Given the description of an element on the screen output the (x, y) to click on. 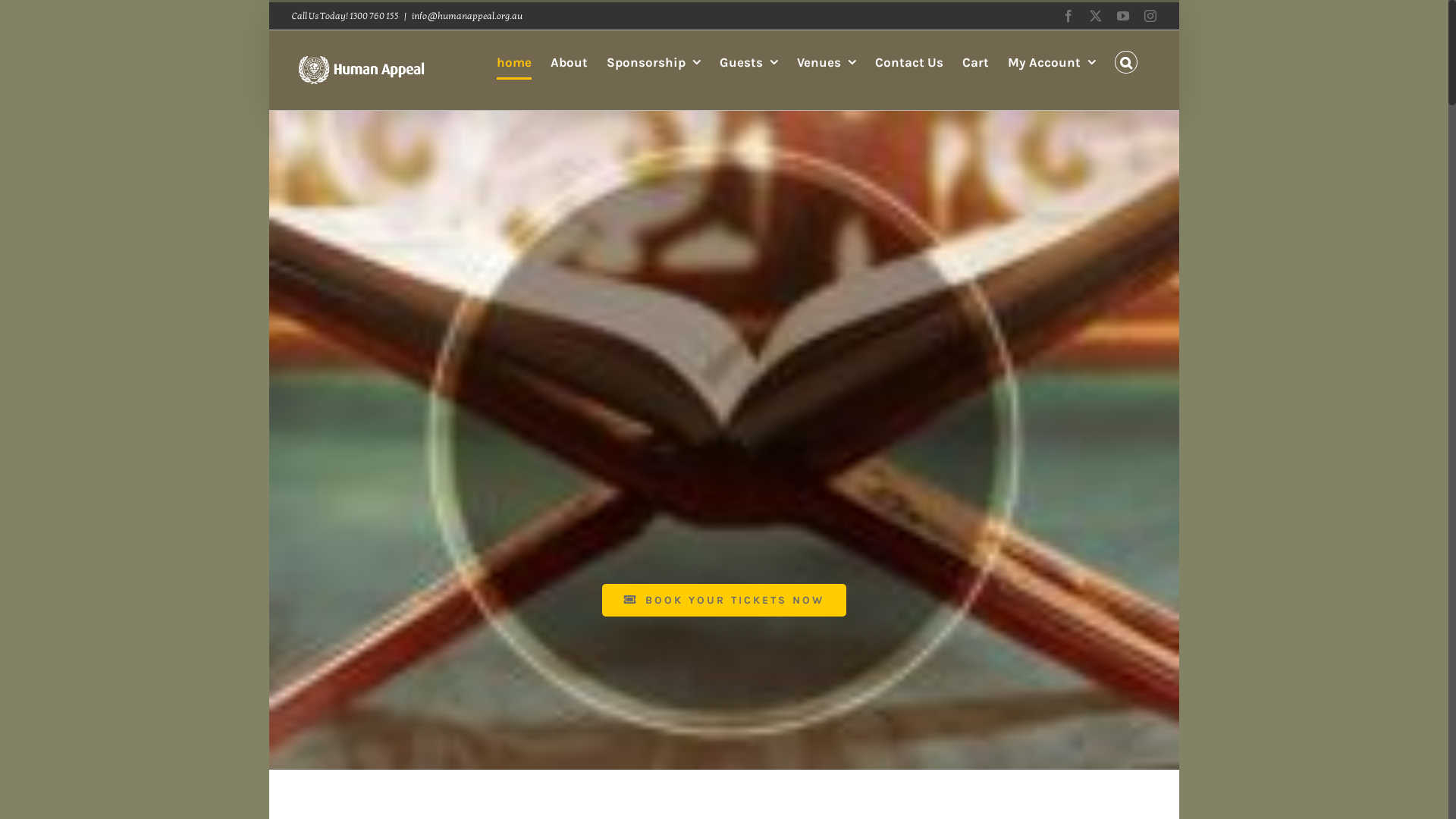
Venues Element type: text (826, 62)
home Element type: text (513, 62)
BOOK YOUR TICKETS NOW Element type: text (724, 599)
info@humanappeal.org.au Element type: text (466, 15)
YouTube Element type: text (1123, 15)
Contact Us Element type: text (909, 62)
Search Element type: hover (1125, 62)
Twitter Element type: text (1095, 15)
Sponsorship Element type: text (653, 62)
Facebook Element type: text (1068, 15)
Cart Element type: text (975, 62)
My Account Element type: text (1051, 62)
Instagram Element type: text (1150, 15)
Guests Element type: text (748, 62)
About Element type: text (568, 62)
